Given the description of an element on the screen output the (x, y) to click on. 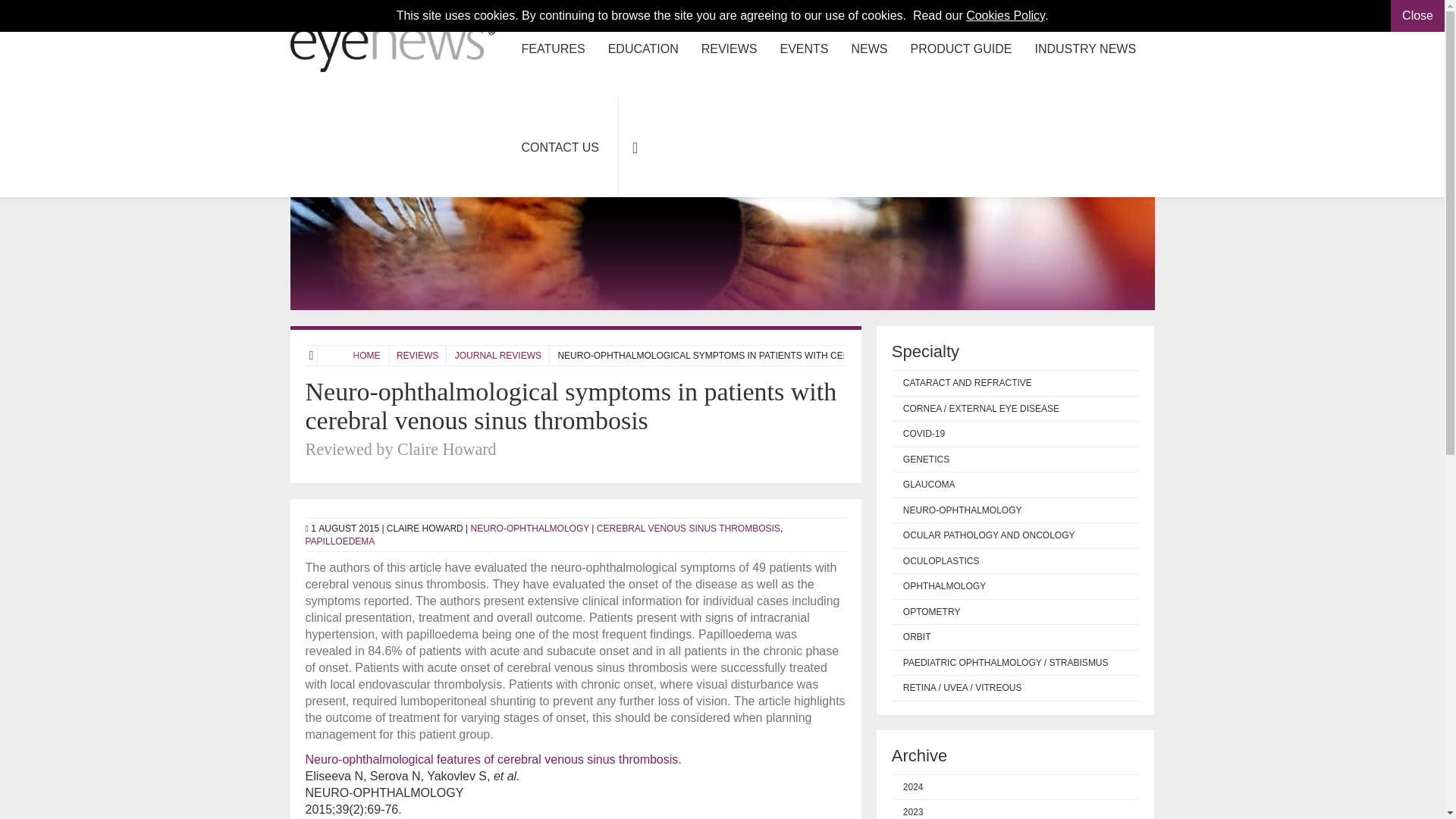
PRODUCT GUIDE (961, 49)
Cookies Policy (1005, 15)
EDUCATION (643, 49)
INDUSTRY NEWS (1085, 49)
